Given the description of an element on the screen output the (x, y) to click on. 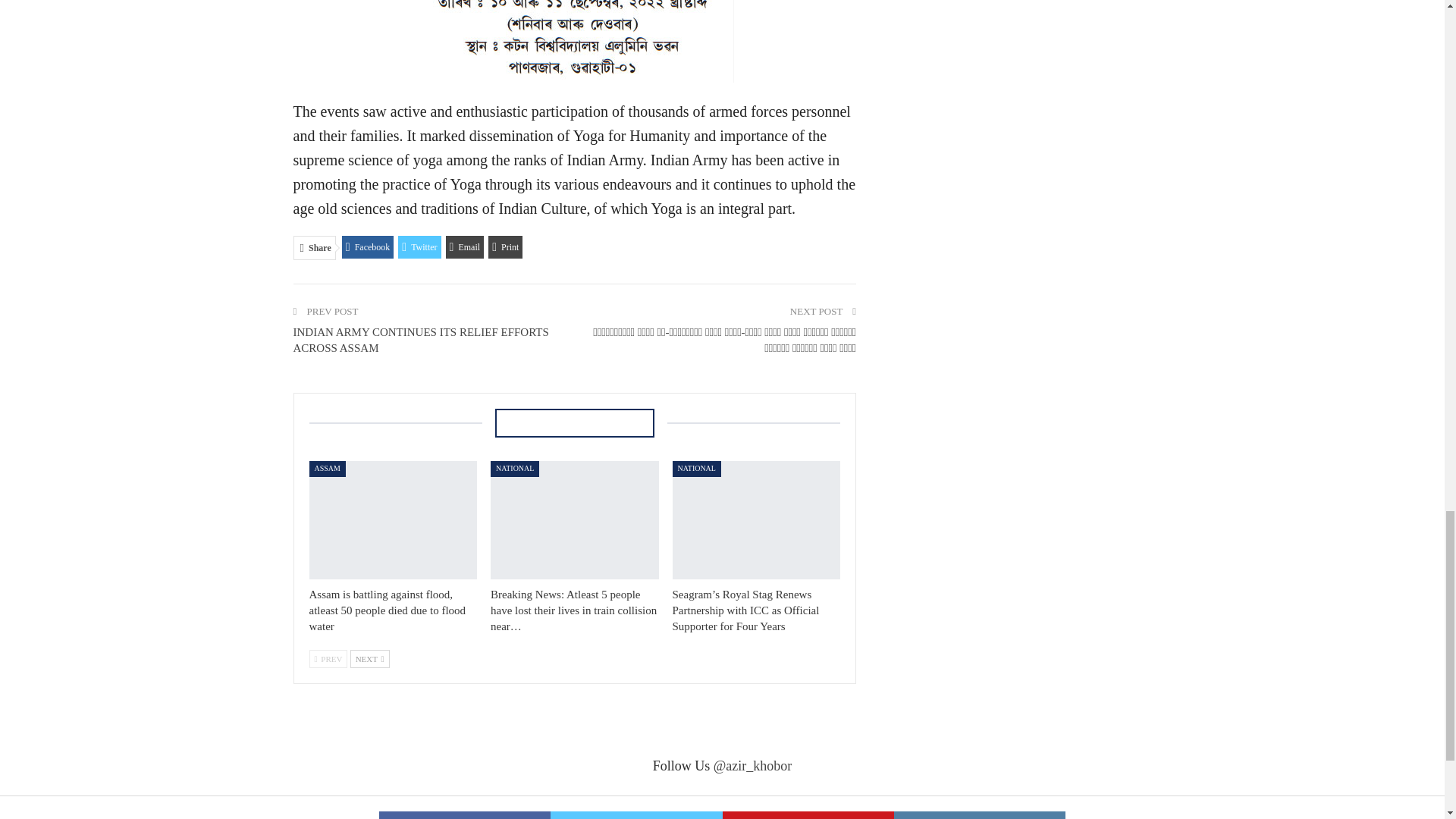
Email (464, 246)
Print (504, 246)
Previous (327, 659)
INDIAN ARMY CONTINUES ITS RELIEF EFFORTS ACROSS ASSAM (420, 339)
ASSAM (327, 468)
Facebook (368, 246)
